Given the description of an element on the screen output the (x, y) to click on. 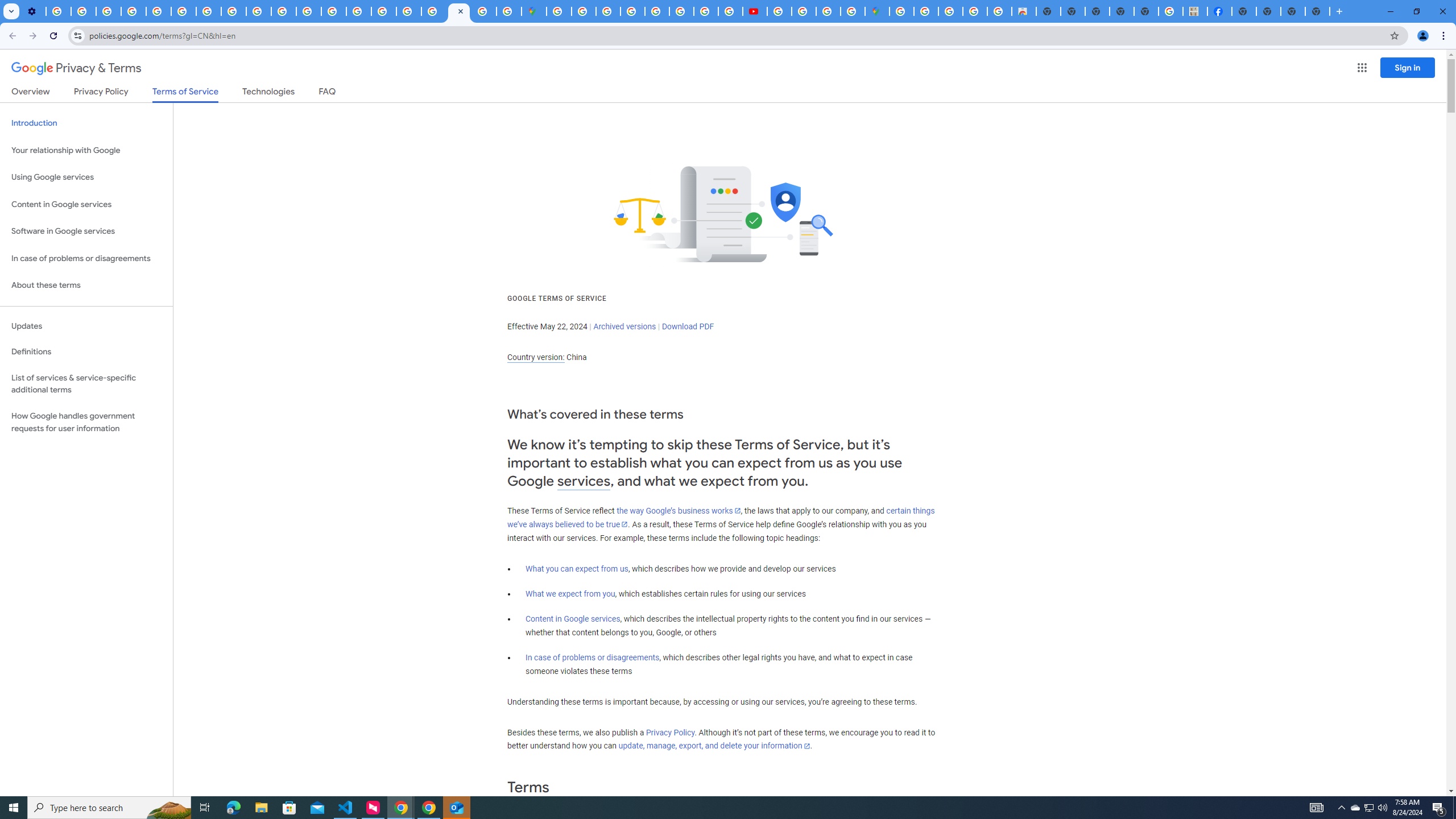
What we expect from you (570, 593)
Download PDF (687, 326)
https://scholar.google.com/ (308, 11)
New Tab (1317, 11)
Privacy Checkup (258, 11)
services (583, 480)
